Given the description of an element on the screen output the (x, y) to click on. 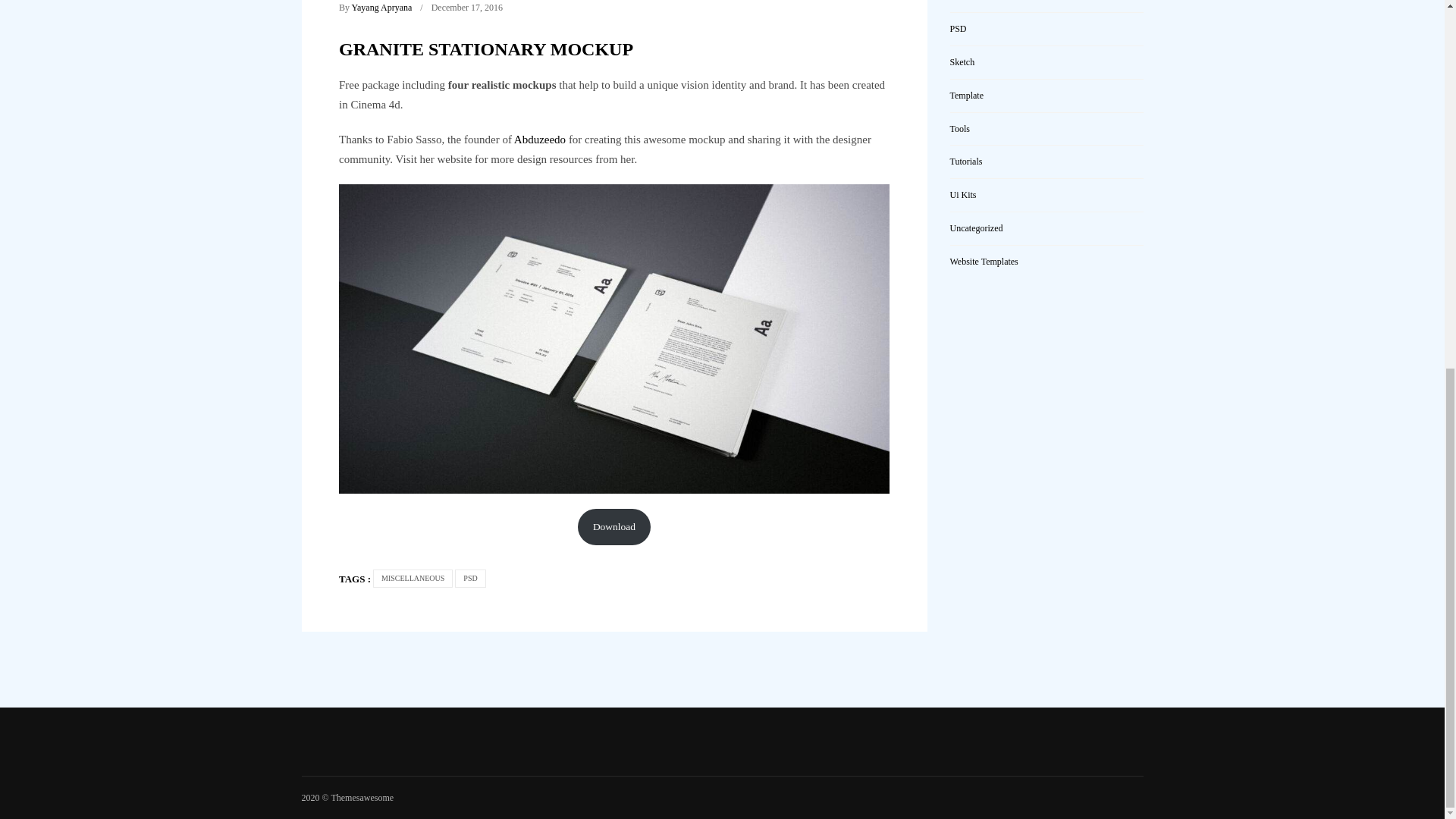
Abduzeedo (539, 139)
PSD (469, 578)
Ui Kits (962, 194)
PSD (957, 28)
Template (965, 95)
MISCELLANEOUS (412, 578)
Sketch (961, 61)
Yayang Apryana (382, 7)
Uncategorized (976, 227)
Website Templates (983, 261)
Yayang Apryana (382, 7)
Tutorials (965, 161)
Tools (959, 128)
